Given the description of an element on the screen output the (x, y) to click on. 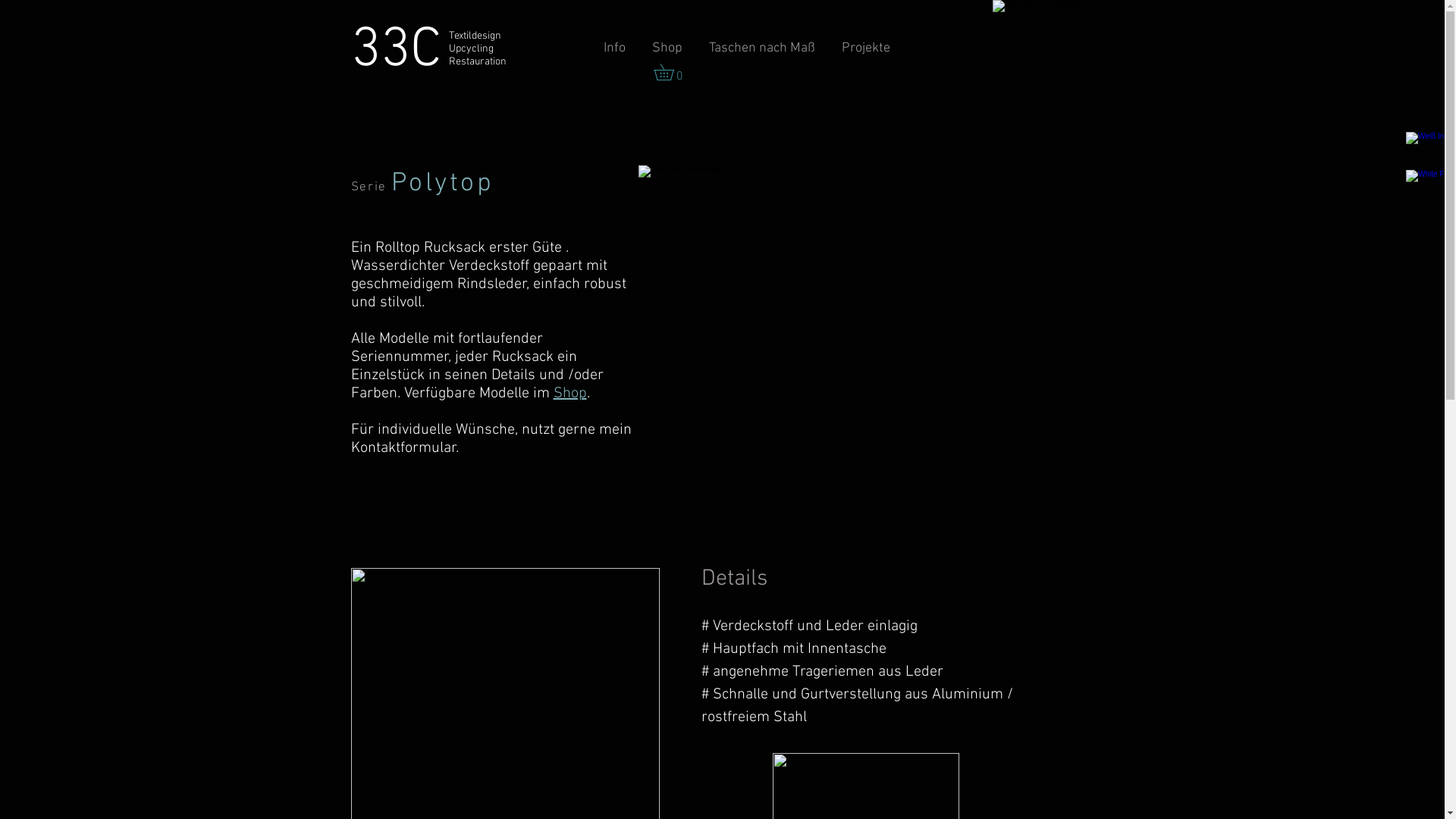
0 Element type: text (671, 71)
IMG_0085.jpg Element type: hover (865, 335)
Shop Element type: text (569, 393)
33C Element type: text (395, 50)
Info Element type: text (614, 48)
Projekte Element type: text (865, 48)
Shop Element type: text (666, 48)
